Given the description of an element on the screen output the (x, y) to click on. 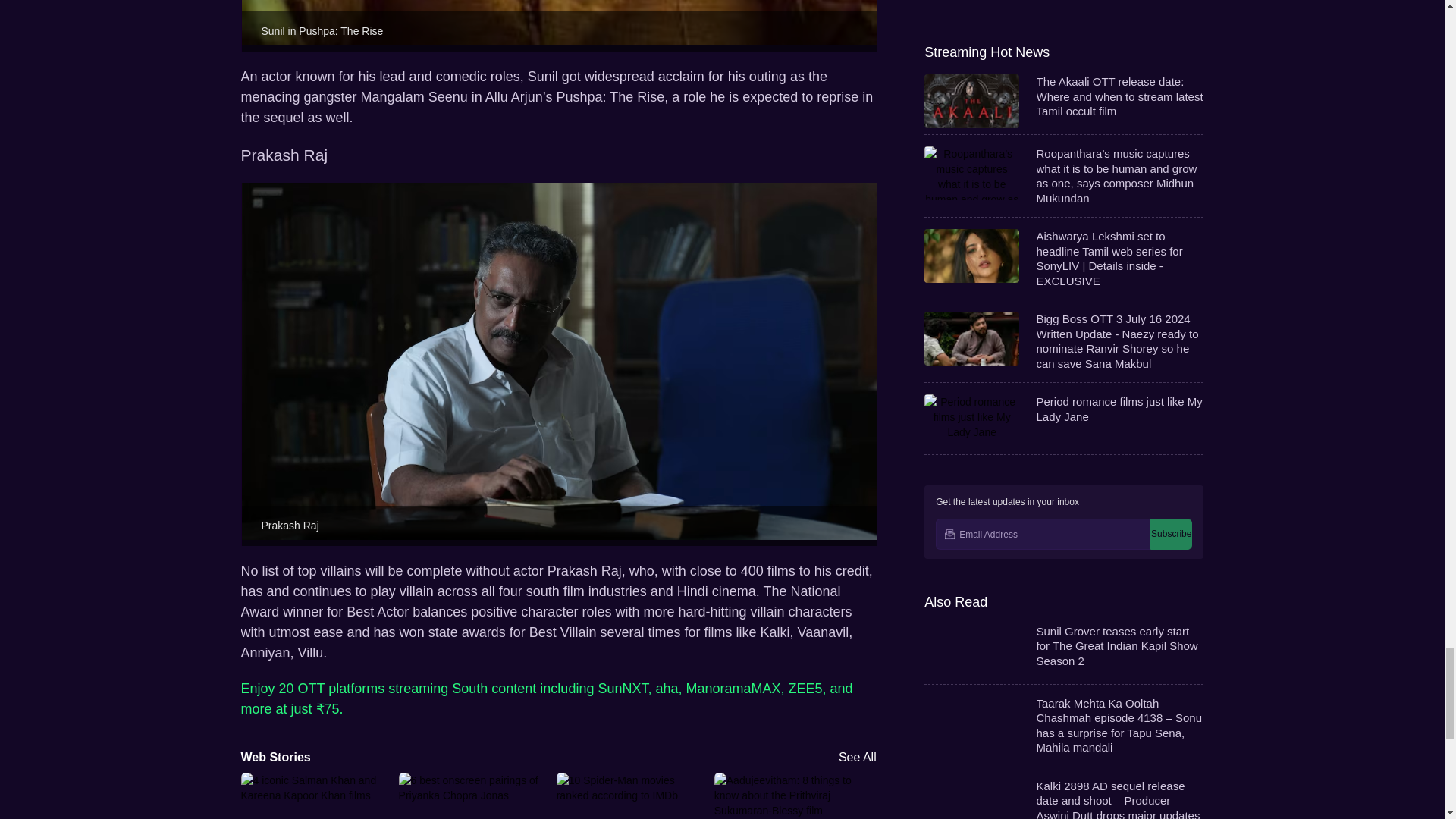
6 best onscreen pairings of Priyanka Chopra Jonas (470, 795)
10 Spider-Man movies ranked according to IMDb (628, 795)
4 iconic Salman Khan and Kareena Kapoor Khan films (313, 795)
